Given the description of an element on the screen output the (x, y) to click on. 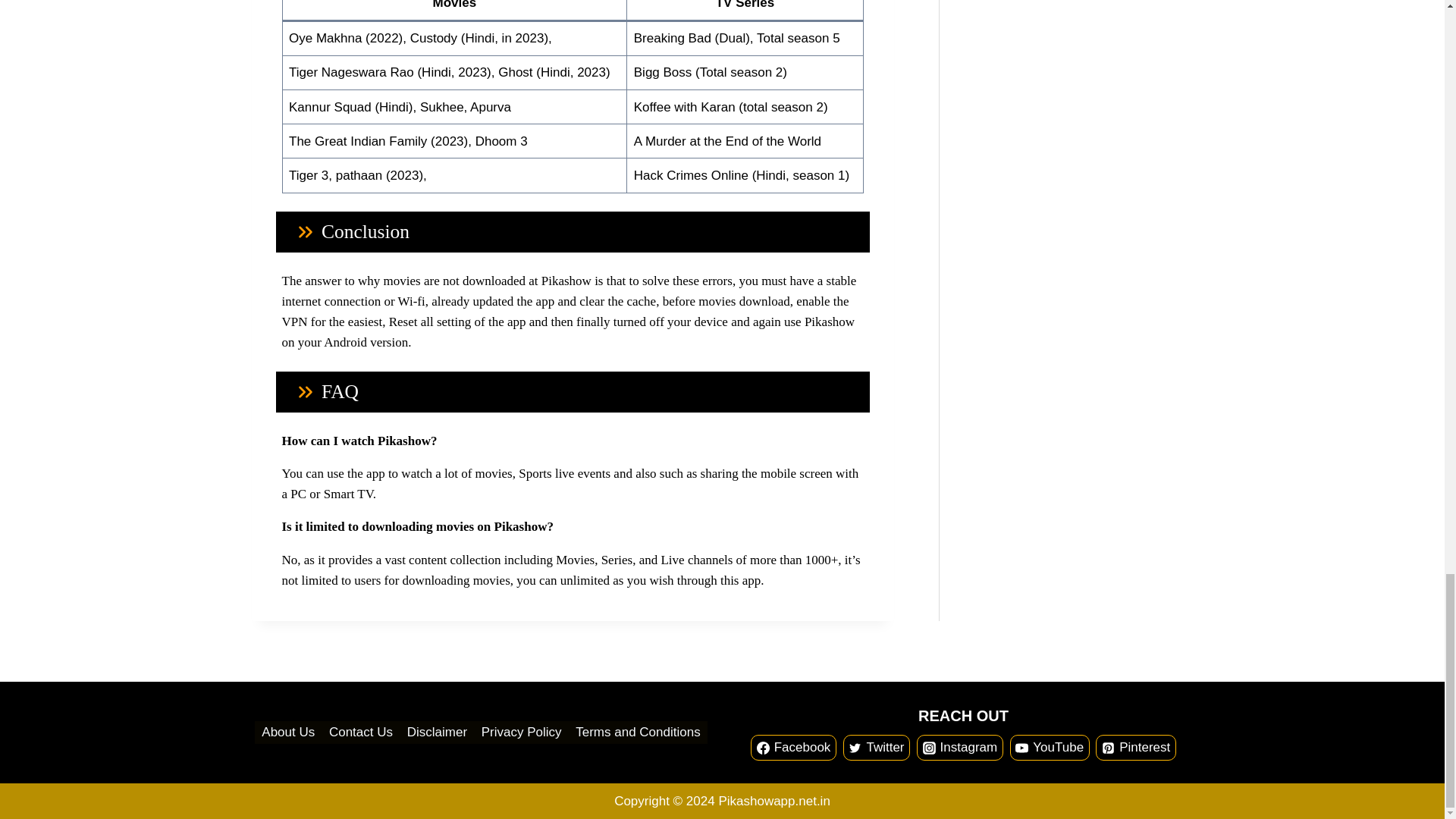
Privacy Policy (521, 732)
About Us (287, 732)
Contact Us (360, 732)
Disclaimer (436, 732)
